Given the description of an element on the screen output the (x, y) to click on. 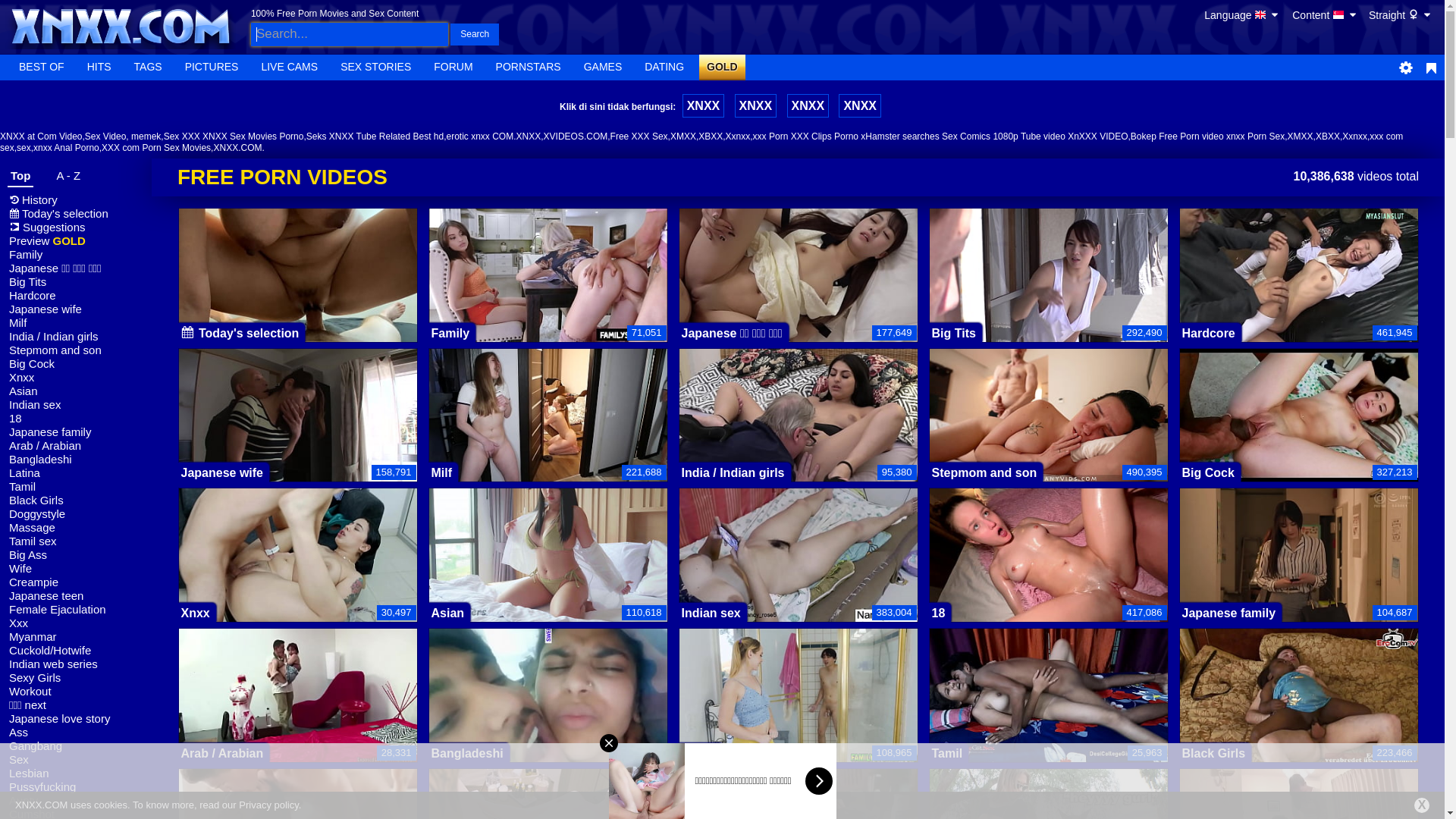
Tamil Element type: text (75, 486)
Big Tits Element type: text (75, 281)
PICTURES Element type: text (211, 67)
GAMES Element type: text (603, 67)
Asian Element type: text (75, 391)
Settings Element type: hover (1405, 67)
Ass Element type: text (75, 732)
Suggestions Element type: text (75, 227)
Japanese teen Element type: text (75, 595)
Indian web series Element type: text (75, 664)
Female Ejaculation Element type: text (75, 609)
BEST OF Element type: text (41, 67)
Latina Element type: text (698, 752)
Japanese wife Element type: text (221, 472)
417,086 Element type: text (1144, 612)
Japanese love story Element type: text (75, 718)
Massage Element type: text (75, 527)
Stepmom and son Element type: text (75, 350)
Cuckold/Hotwife Element type: text (75, 650)
177,649 Element type: text (894, 332)
Milf Element type: text (75, 322)
Indian sex Element type: text (710, 612)
Tamil sex Element type: text (75, 541)
DATING Element type: text (664, 67)
Family Element type: text (449, 332)
Bangladeshi Element type: text (75, 459)
Latina Element type: text (75, 473)
327,213 Element type: text (1394, 471)
Japanese wife Element type: text (75, 309)
Creampie Element type: text (75, 582)
292,490 Element type: text (1144, 332)
XNXX Element type: text (703, 105)
10,950 Element type: text (646, 752)
Arab / Arabian Element type: text (75, 445)
India / Indian girls Element type: text (75, 336)
LIVE CAMS Element type: text (289, 67)
Today's selection Element type: text (75, 213)
Xnxx Element type: text (75, 377)
Language Element type: text (1242, 17)
Asian Element type: text (447, 612)
Wife Element type: text (75, 568)
Top Element type: text (20, 178)
Tamil Element type: text (946, 752)
Myanmar Element type: text (75, 636)
71,051 Element type: text (646, 332)
A - Z Element type: text (64, 178)
Stepmom and son Element type: text (983, 472)
18 Element type: text (75, 418)
158,791 Element type: text (393, 471)
XNXX Element type: text (808, 105)
Hardcore Element type: text (1207, 332)
Big Cock Element type: text (75, 363)
Xxx Element type: text (75, 623)
Sexy Girls Element type: text (75, 677)
110,618 Element type: text (644, 612)
Sex Element type: text (75, 759)
104,687 Element type: text (1394, 612)
XNXX Element type: text (755, 105)
461,945 Element type: text (1394, 332)
Privacy policy Element type: text (268, 804)
490,395 Element type: text (1144, 471)
X Element type: text (1421, 804)
Arab / Arabian Element type: text (221, 752)
XNXX Element type: text (859, 105)
India / Indian girls Element type: text (732, 472)
25,963 Element type: text (1147, 752)
GOLD Element type: text (721, 67)
Pussyfucking Element type: text (75, 786)
Bangladeshi Element type: text (466, 752)
Hardcore Element type: text (75, 295)
History Element type: text (75, 200)
Gangbang Element type: text (75, 746)
108,965 Element type: text (894, 752)
Xnxx Element type: text (194, 612)
Big Cock Element type: text (1207, 472)
Doggystyle Element type: text (75, 513)
28,331 Element type: text (396, 752)
Search Element type: text (474, 33)
223,466 Element type: text (1394, 752)
10,386,638 Element type: text (1323, 175)
18 Element type: text (937, 612)
Family Element type: text (75, 254)
Aunty Element type: text (75, 800)
Preview GOLD Element type: text (75, 240)
Big Tits Element type: text (953, 332)
Japanese family Element type: text (75, 432)
TAGS Element type: text (147, 67)
Today's selection Element type: text (239, 332)
30,497 Element type: text (396, 612)
Lesbian Element type: text (75, 773)
Black Girls Element type: text (75, 500)
Content Element type: text (1325, 15)
Milf Element type: text (440, 472)
383,004 Element type: text (894, 612)
Straight Element type: text (1400, 17)
Workout Element type: text (75, 691)
SEX STORIES Element type: text (375, 67)
Big Ass Element type: text (75, 554)
PORNSTARS Element type: text (528, 67)
BOOKMARK XNXX VIDEOS Element type: hover (1431, 67)
95,380 Element type: text (896, 471)
HITS Element type: text (99, 67)
Indian sex Element type: text (75, 404)
Japanese family Element type: text (1228, 612)
Black Girls Element type: text (1213, 752)
FORUM Element type: text (453, 67)
221,688 Element type: text (644, 471)
